Given the description of an element on the screen output the (x, y) to click on. 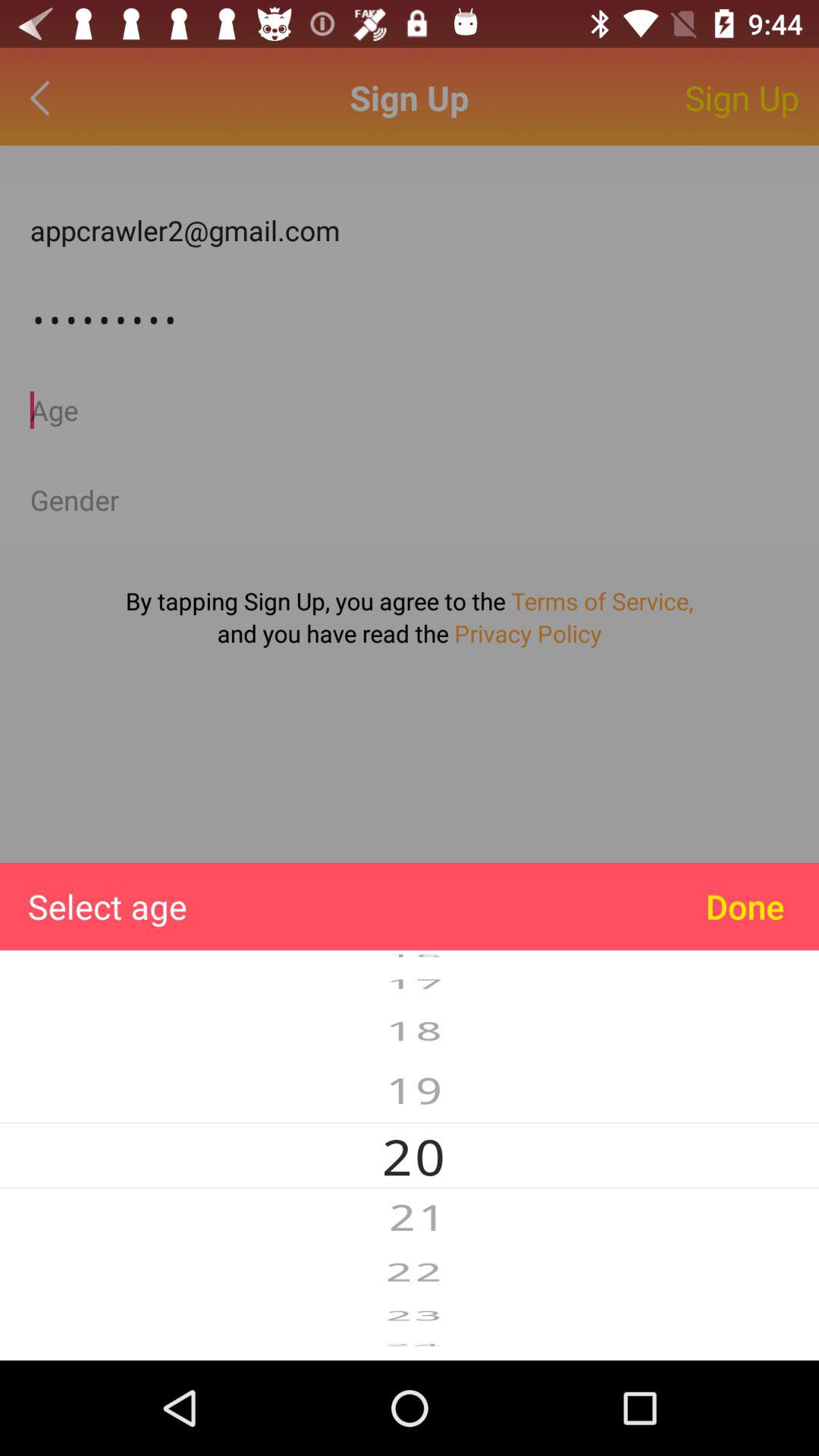
add a gender (409, 499)
